Given the description of an element on the screen output the (x, y) to click on. 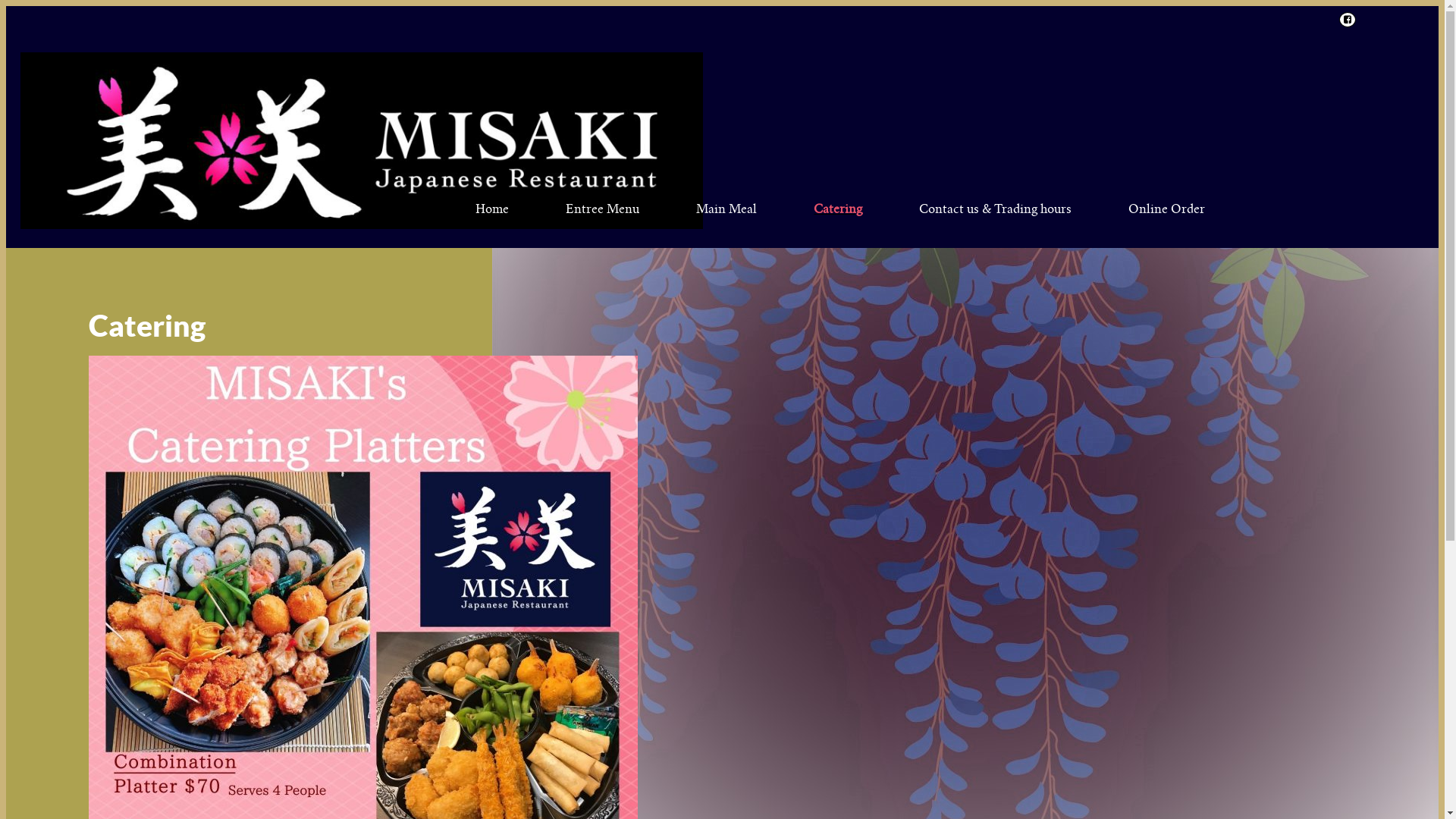
Facebook Element type: hover (1345, 19)
Main Meal Element type: text (713, 120)
Online Order Element type: text (1153, 120)
Entree Menu Element type: text (588, 120)
Contact us & Trading hours Element type: text (981, 120)
Catering Element type: text (824, 120)
Home Element type: text (478, 120)
